Given the description of an element on the screen output the (x, y) to click on. 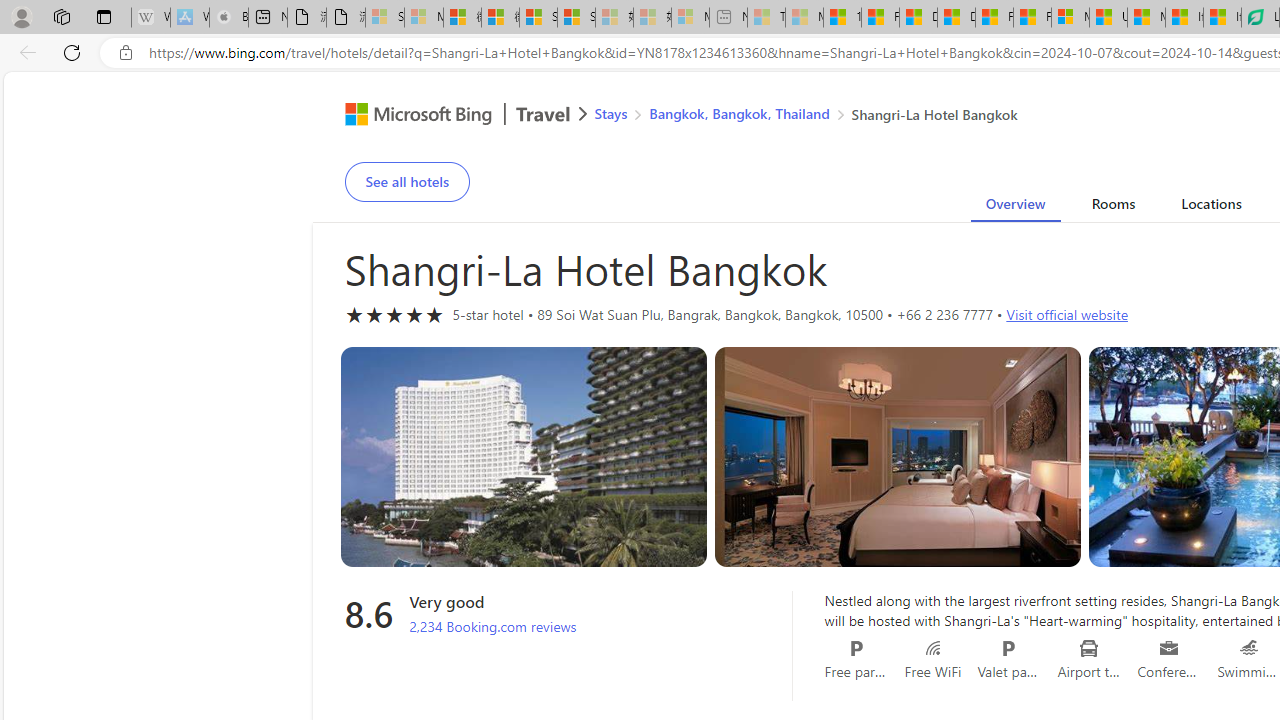
Drinking tea every day is proven to delay biological aging (956, 17)
Bangkok, Bangkok, Thailand (738, 112)
Foo BAR | Trusted Community Engagement and Contributions (1031, 17)
AutomationID: bread-crumb-root (793, 116)
Valet parking (1008, 647)
Swimming pool (1249, 647)
Airport transportation (1089, 647)
Free WiFi (932, 647)
Class: msft-travel-logo (543, 114)
